Given the description of an element on the screen output the (x, y) to click on. 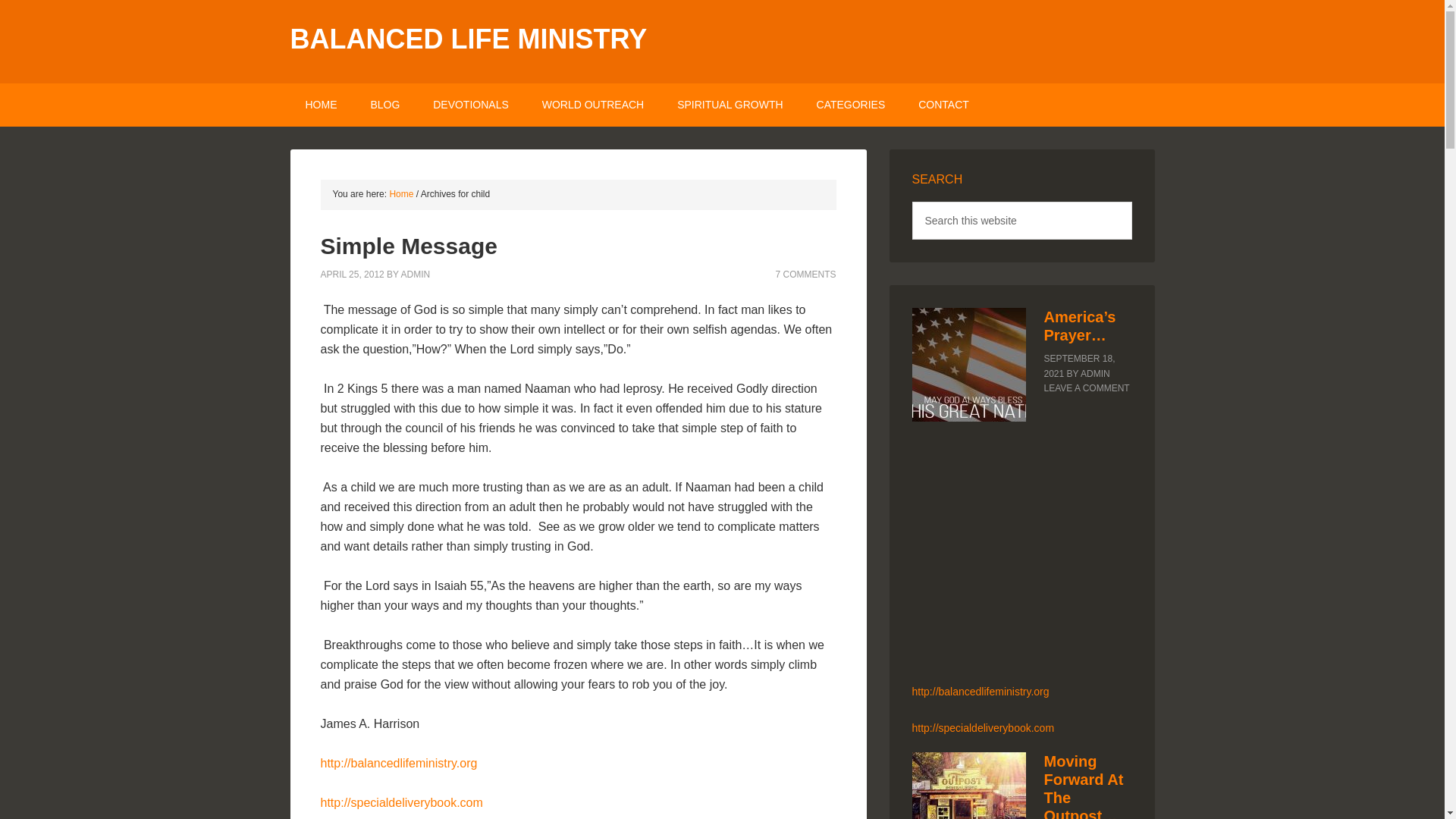
Simple Message (408, 245)
DEVOTIONALS (470, 104)
CONTACT (943, 104)
7 COMMENTS (804, 273)
SPIRITUAL GROWTH (729, 104)
WORLD OUTREACH (593, 104)
HOME (320, 104)
CATEGORIES (851, 104)
Home (400, 194)
BLOG (384, 104)
ADMIN (415, 273)
BALANCED LIFE MINISTRY (467, 38)
